Given the description of an element on the screen output the (x, y) to click on. 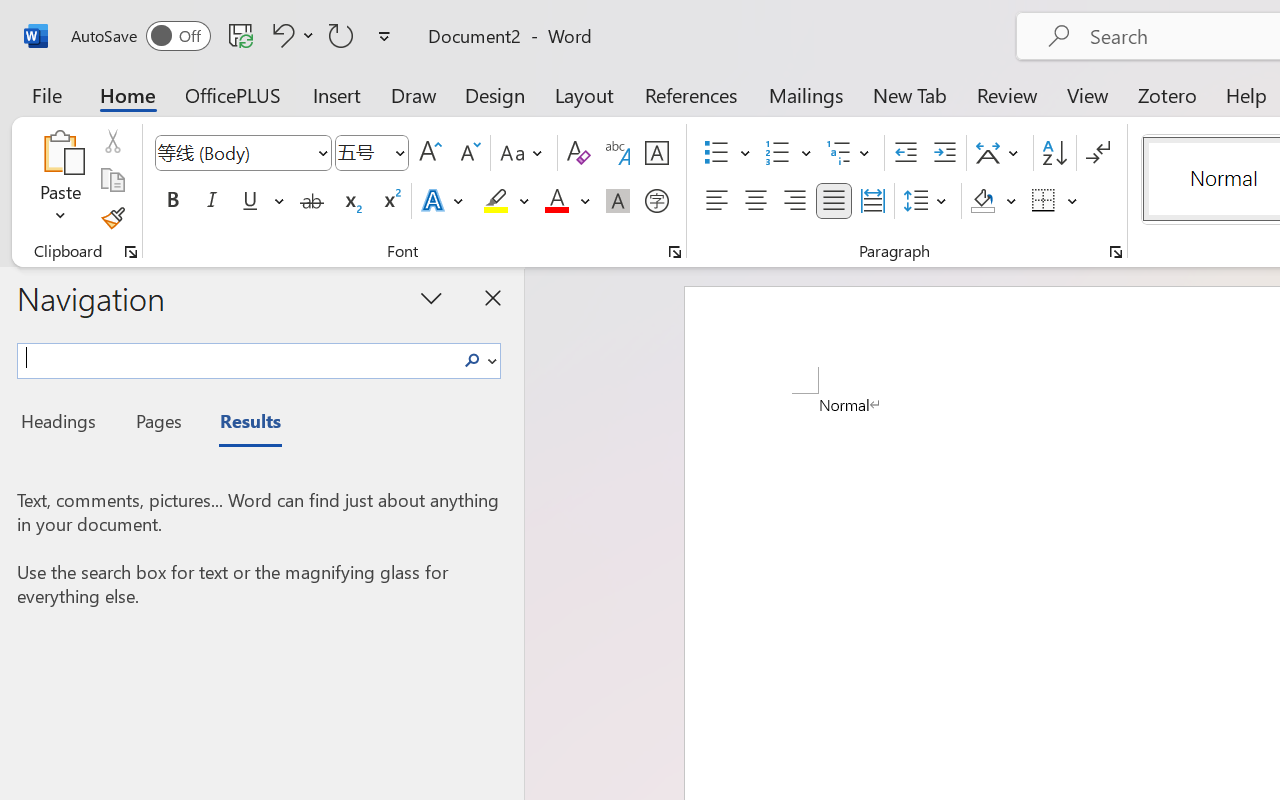
Open (399, 152)
Distributed (872, 201)
Paste (60, 179)
Shading (993, 201)
Cut (112, 141)
Layout (584, 94)
OfficePLUS (233, 94)
Undo Apply Quick Style (290, 35)
Bullets (727, 153)
Borders (1044, 201)
Paragraph... (1115, 252)
Class: NetUIImage (471, 360)
Font... (675, 252)
Character Shading (618, 201)
